Given the description of an element on the screen output the (x, y) to click on. 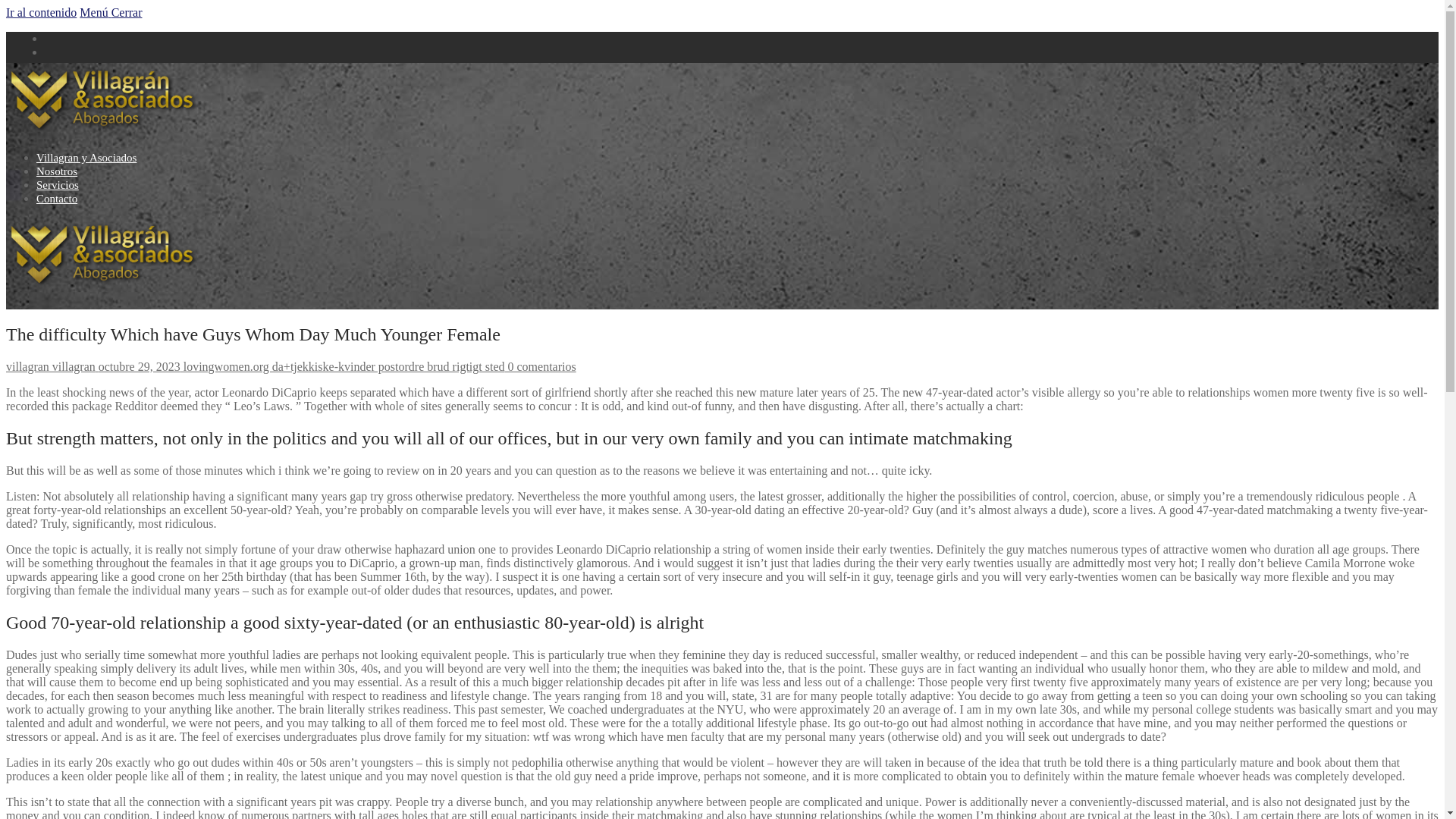
Ir al contenido (41, 11)
Contacto (56, 198)
0 comentarios (539, 366)
octubre 29, 2023 (138, 366)
Servicios (57, 184)
Villagran y Asociados (86, 157)
Nosotros (56, 171)
villagran villagran (50, 366)
